Given the description of an element on the screen output the (x, y) to click on. 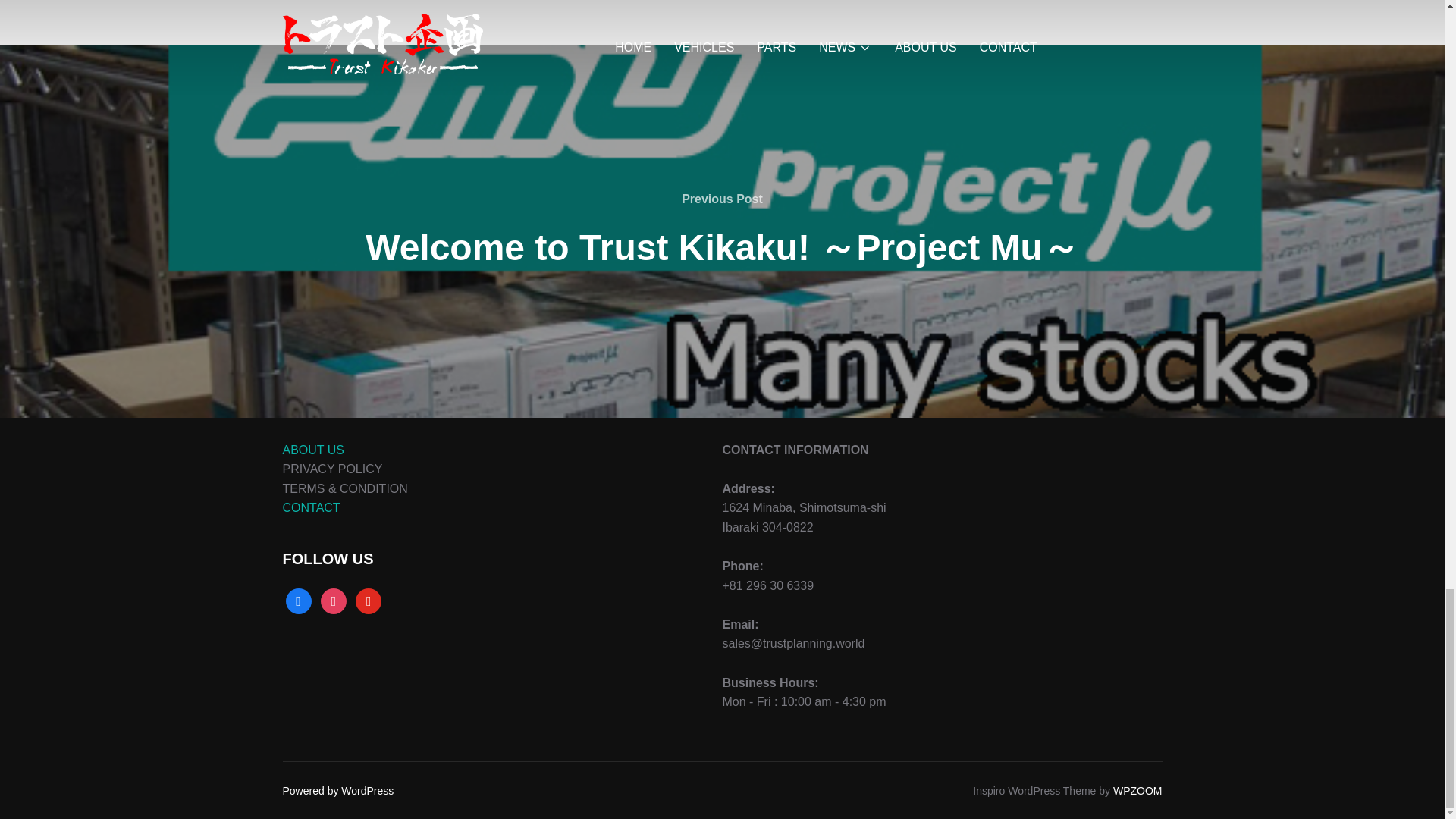
Instagram (333, 599)
Facebook (298, 599)
CONTACT (310, 507)
ABOUT US (312, 449)
